Given the description of an element on the screen output the (x, y) to click on. 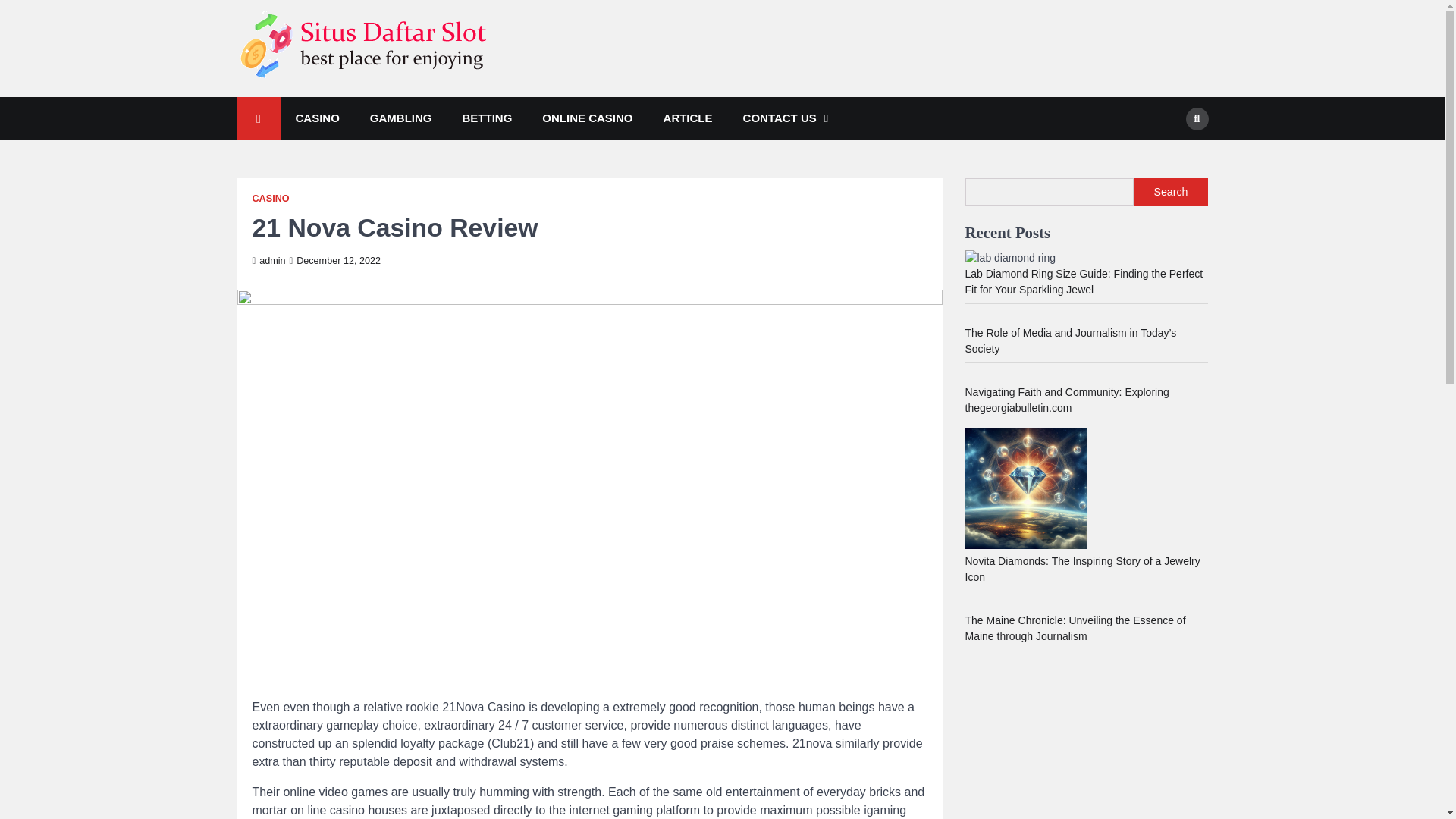
admin (268, 260)
Situs Daftar Sot (322, 100)
GAMBLING (400, 118)
Search (1168, 154)
Novita Diamonds: The Inspiring Story of a Jewelry Icon (1081, 569)
CONTACT US (786, 118)
BETTING (486, 118)
December 12, 2022 (335, 260)
CASINO (269, 198)
lab diamond ring (1009, 258)
ARTICLE (687, 118)
CASINO (318, 118)
ONLINE CASINO (587, 118)
Search (1197, 118)
